Given the description of an element on the screen output the (x, y) to click on. 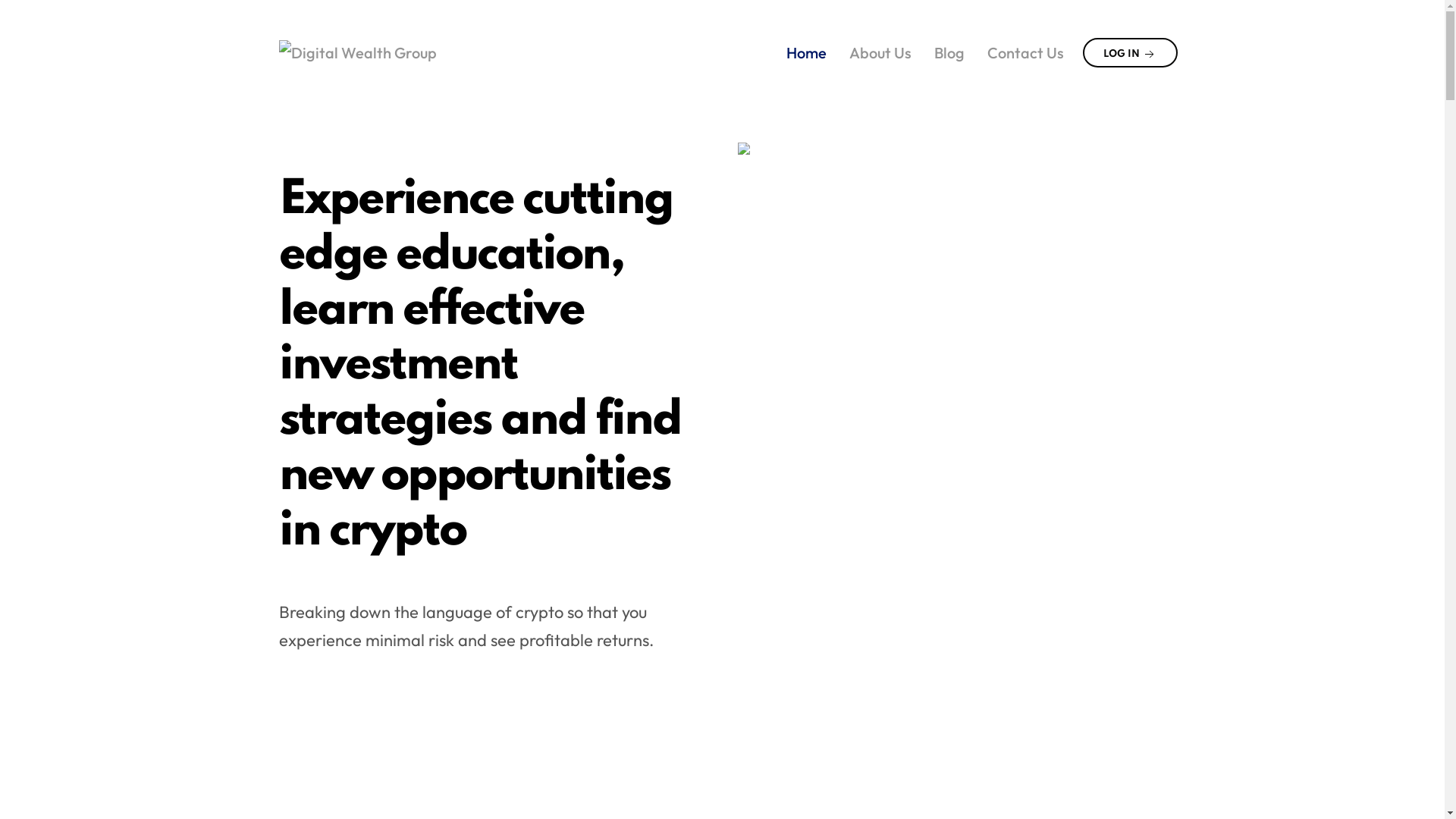
LOG IN Element type: text (1129, 52)
Contact Us Element type: text (1024, 52)
Blog Element type: text (948, 52)
About Us Element type: text (879, 52)
Home Element type: text (806, 52)
